Given the description of an element on the screen output the (x, y) to click on. 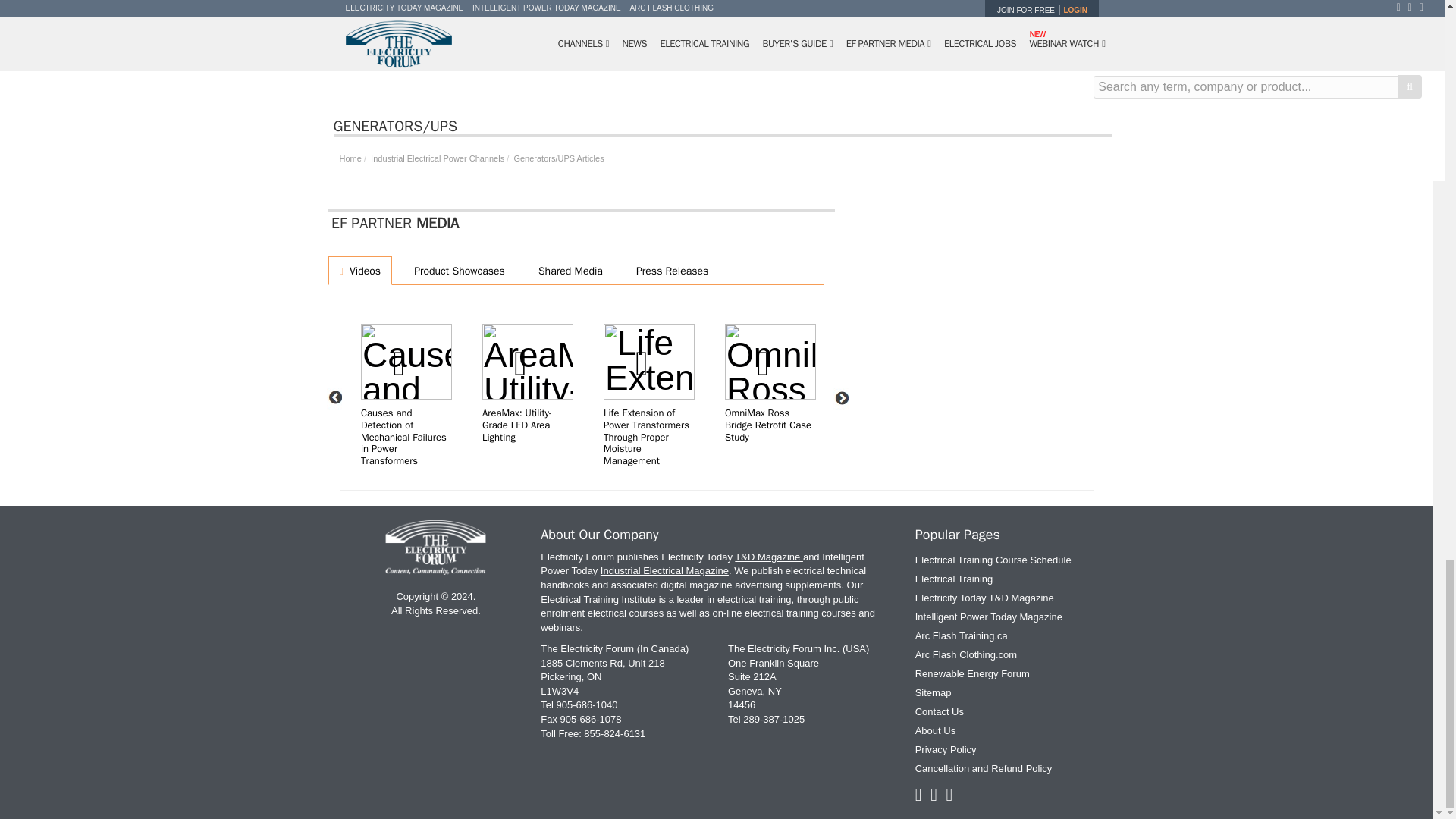
Shared Media (567, 270)
Product Showcases (456, 270)
Videos (360, 270)
